Given the description of an element on the screen output the (x, y) to click on. 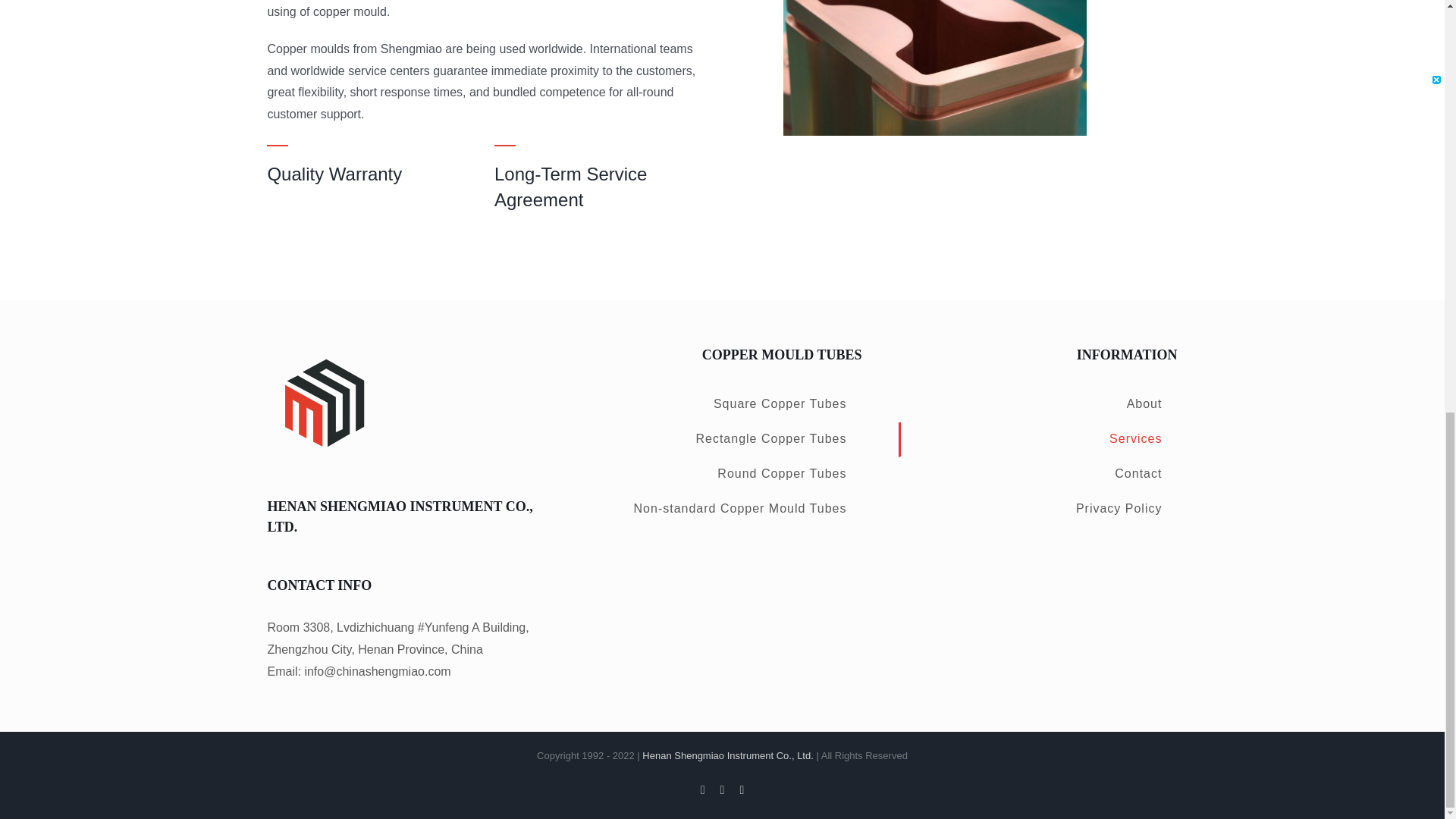
About (1037, 404)
Privacy Policy (1037, 509)
Services (1037, 439)
Contact (1037, 474)
Henan Shengmiao Instrument Co., Ltd. (727, 755)
Round Copper Tubes (722, 474)
Non-standard Copper Mould Tubes (722, 509)
Rectangle Copper Tubes (722, 439)
v3-Non-standard Copper Tubes-ChinaShengmiao (934, 67)
Square Copper Tubes (722, 404)
